Given the description of an element on the screen output the (x, y) to click on. 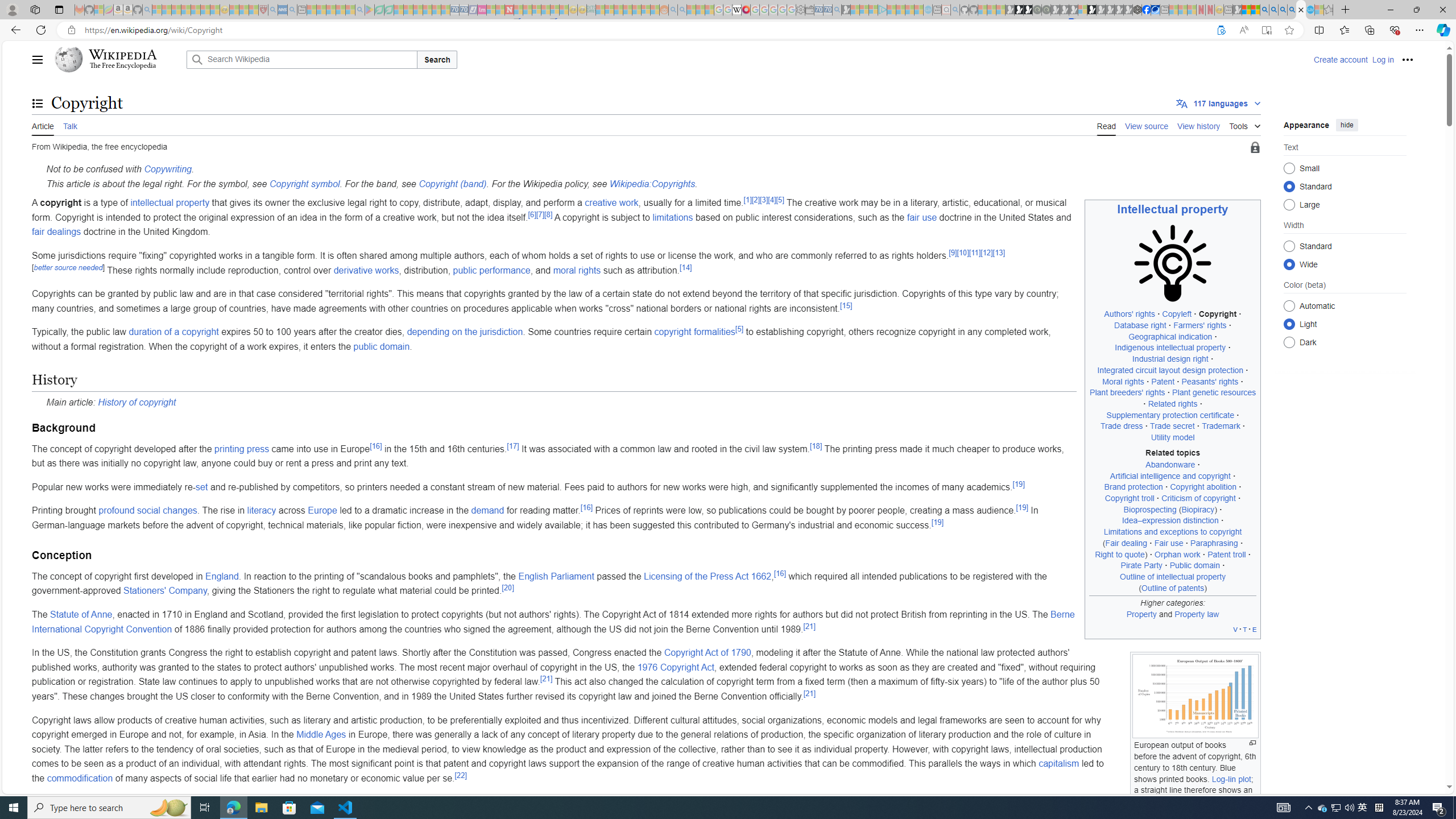
Intellectual property (1172, 209)
Europe (322, 510)
The Weather Channel - MSN - Sleeping (175, 9)
[18] (815, 445)
Small (1289, 167)
New tab - Sleeping (1227, 9)
View source (1147, 124)
History of copyright (136, 402)
Limitations and exceptions to copyright (1172, 532)
